Given the description of an element on the screen output the (x, y) to click on. 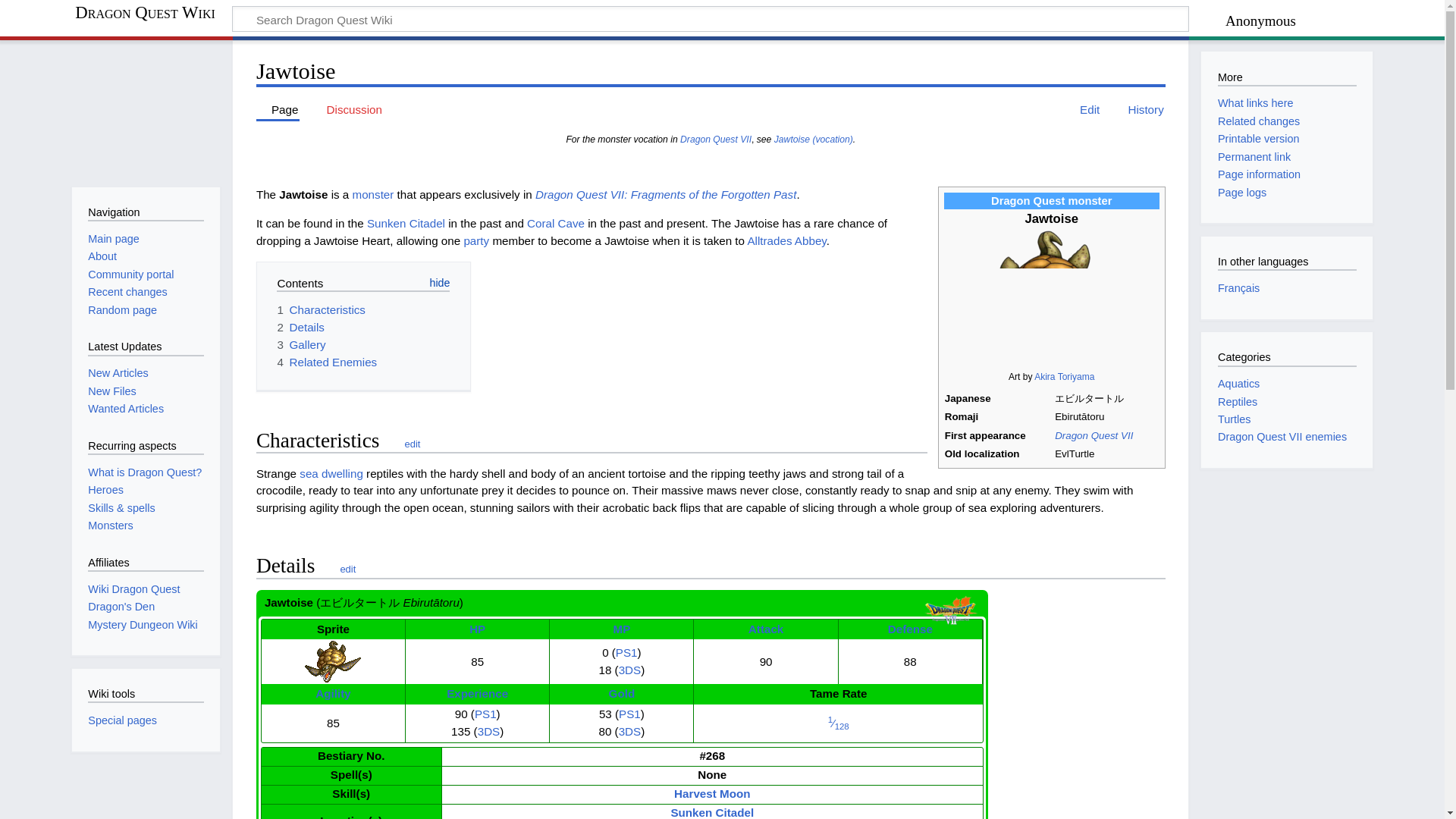
HP (476, 628)
Alltrades Abbey (785, 240)
2 Details (299, 327)
Sunken Citadel (405, 223)
3 Gallery (300, 344)
Akira Toriyama (1063, 376)
4 Related Enemies (326, 361)
Edit (1082, 109)
Experience (477, 693)
Dragon Quest VII: Fragments of the Forgotten Past (715, 139)
